Given the description of an element on the screen output the (x, y) to click on. 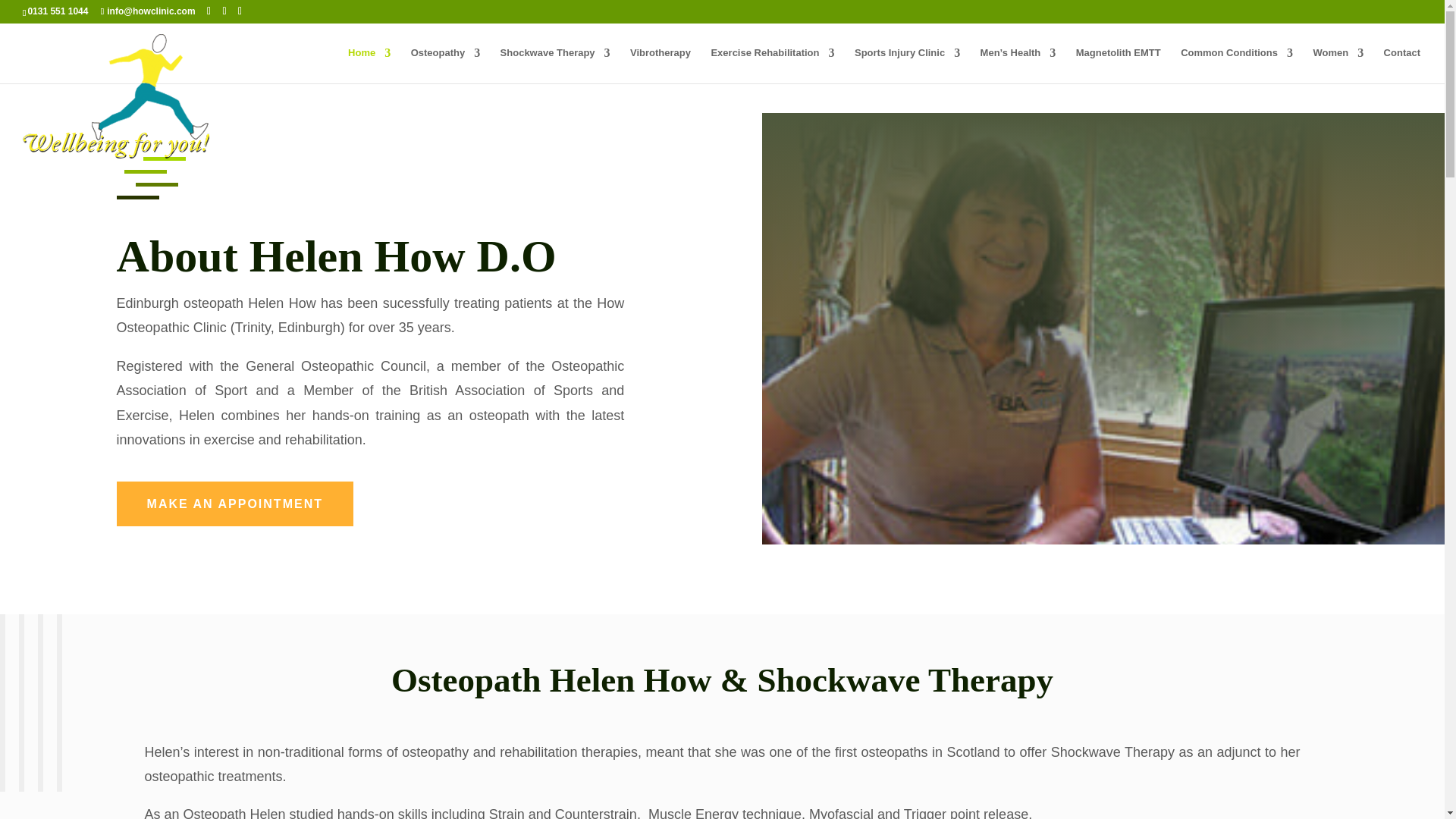
Magnetolith EMTT Edinburgh (1117, 65)
Shockwave Therapy (555, 65)
Sports Injury Clinic Edinburgh (906, 65)
Common Conditions (1236, 65)
Sports Injury Clinic (906, 65)
Vibrotherapy at the How Osteopathic Clinic Edinburgh (660, 65)
Women (1337, 65)
Osteopathy (445, 65)
Exercise Rehabilitation (772, 65)
Magnetolith EMTT (1117, 65)
Shockwave Therapy at the How Osteopathic Clinic Edinburgh (555, 65)
How Osteopathic Clinic Edinburgh (368, 65)
Home (368, 65)
Vibrotherapy (660, 65)
Traditional Osteopathy Edinburgh (445, 65)
